Given the description of an element on the screen output the (x, y) to click on. 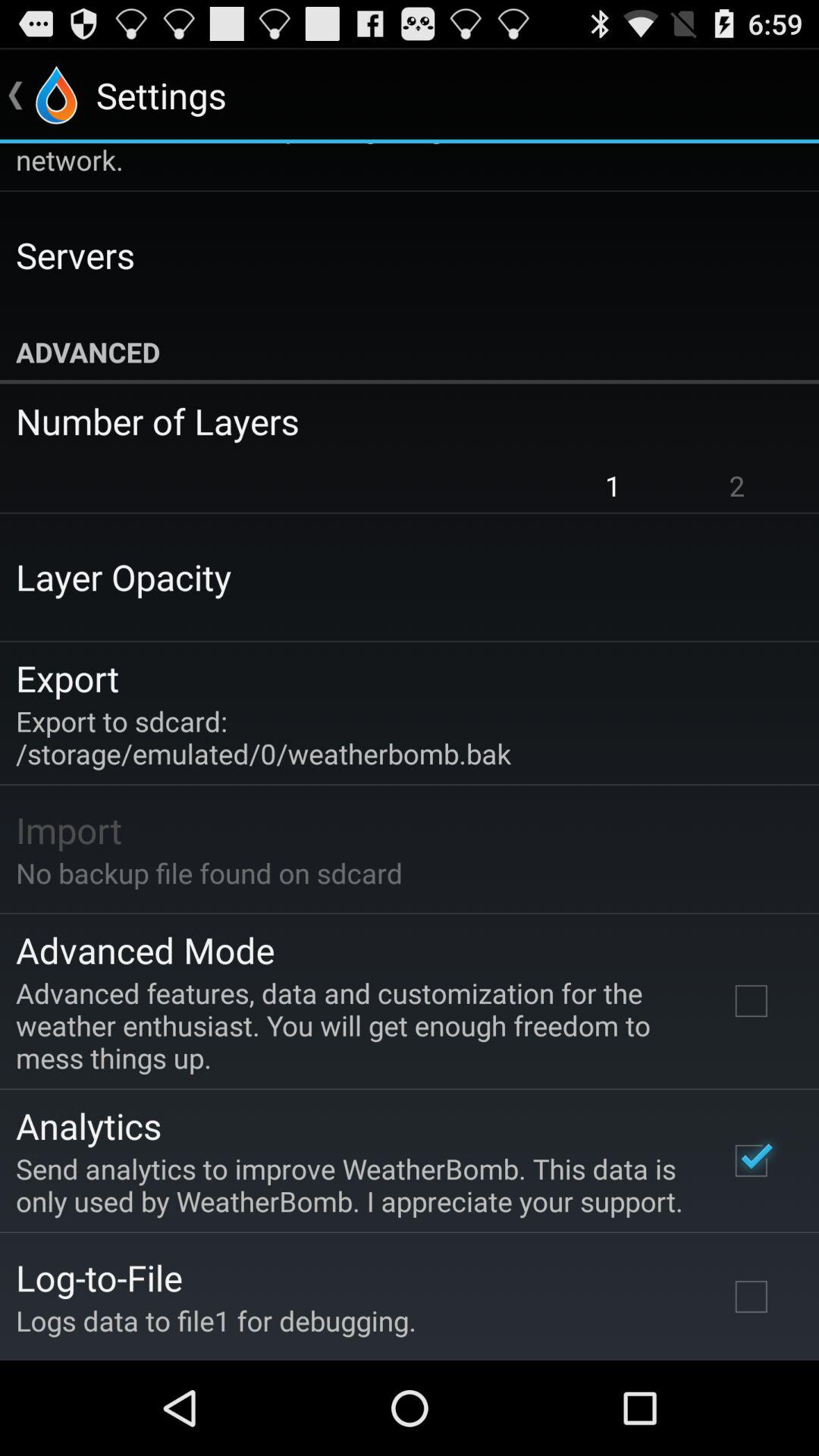
select 2 (737, 485)
